Given the description of an element on the screen output the (x, y) to click on. 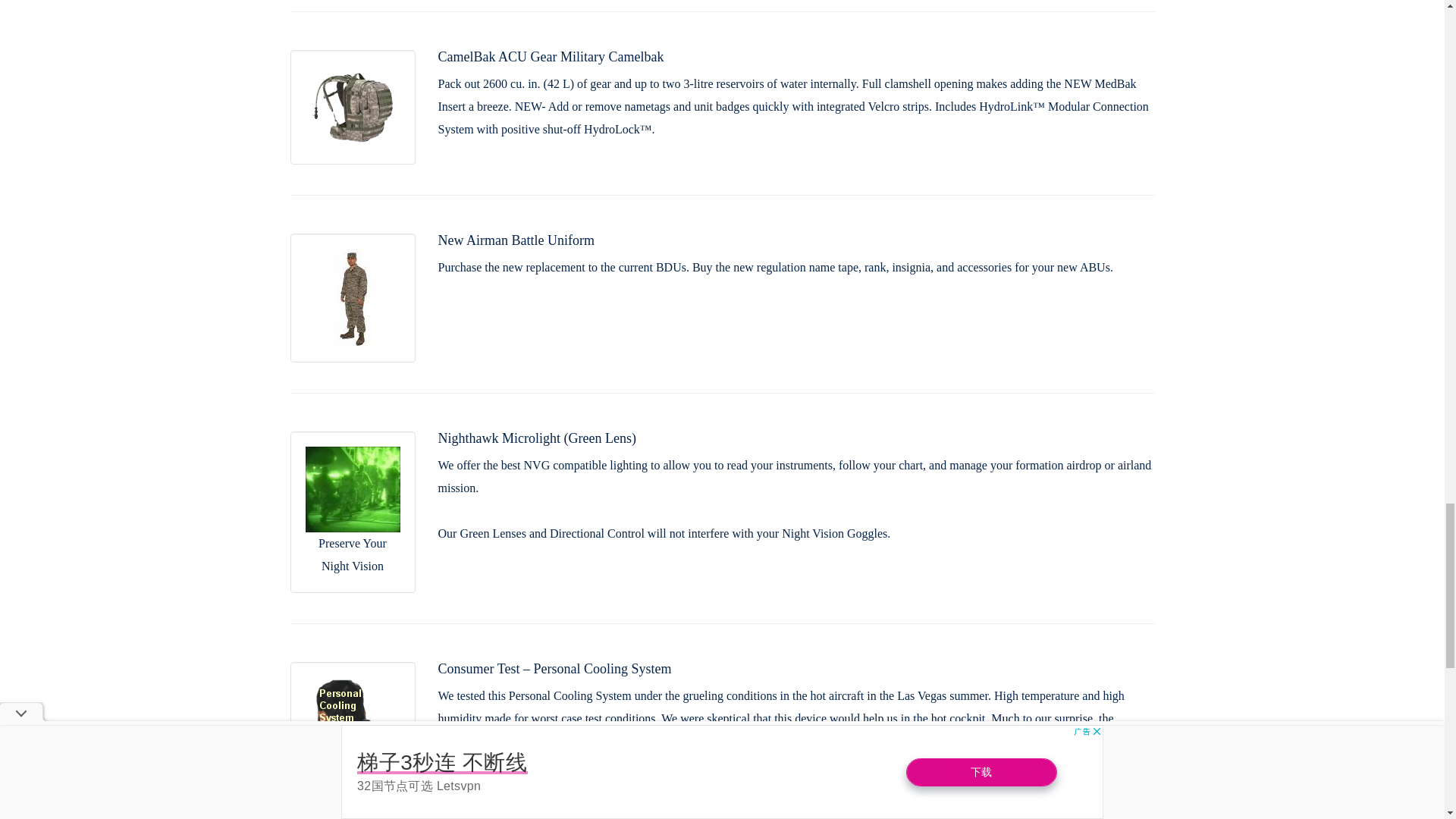
cooling neck wraps. (745, 809)
